Given the description of an element on the screen output the (x, y) to click on. 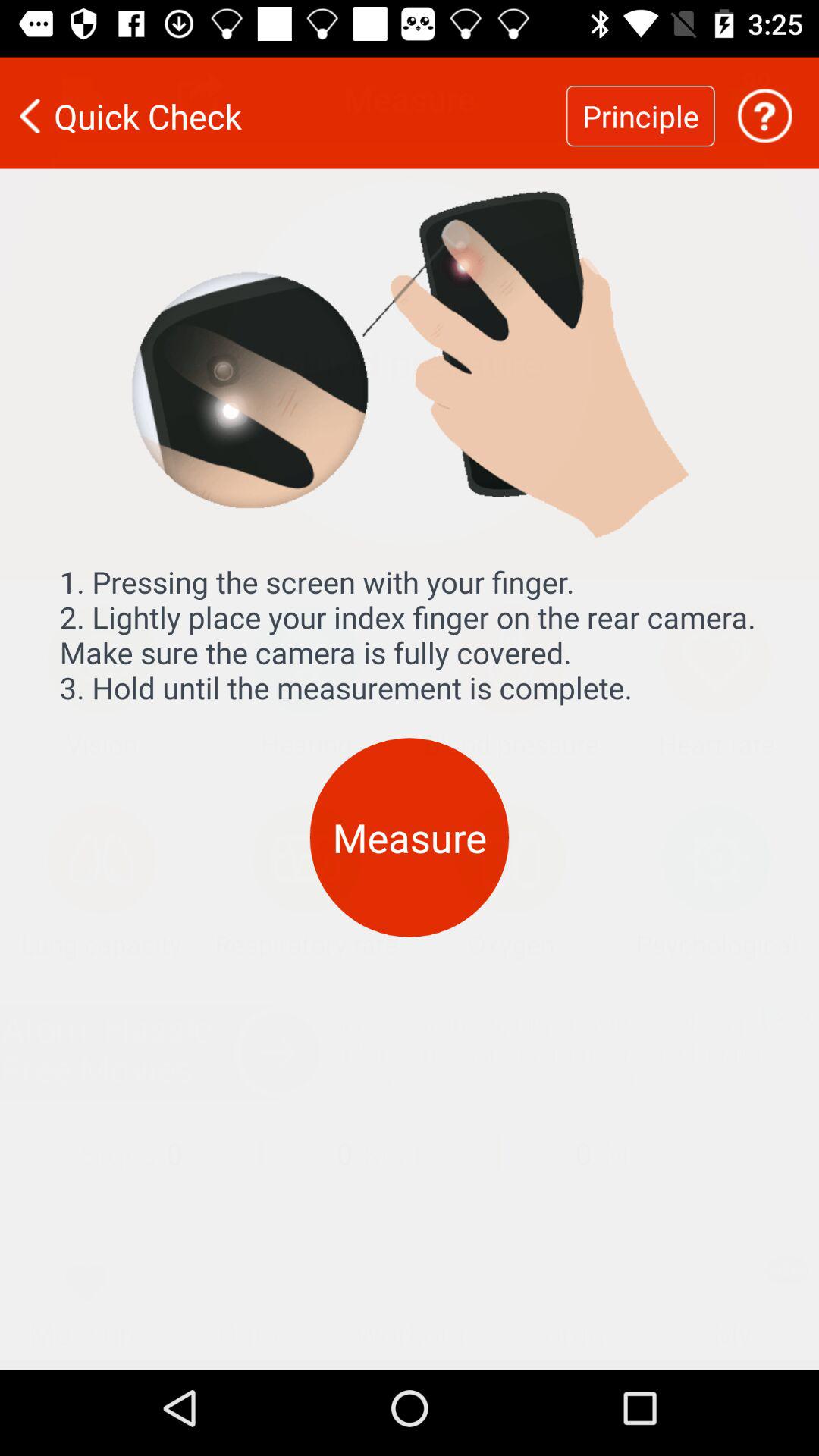
turn on the item to the right of the quick check (640, 106)
